Given the description of an element on the screen output the (x, y) to click on. 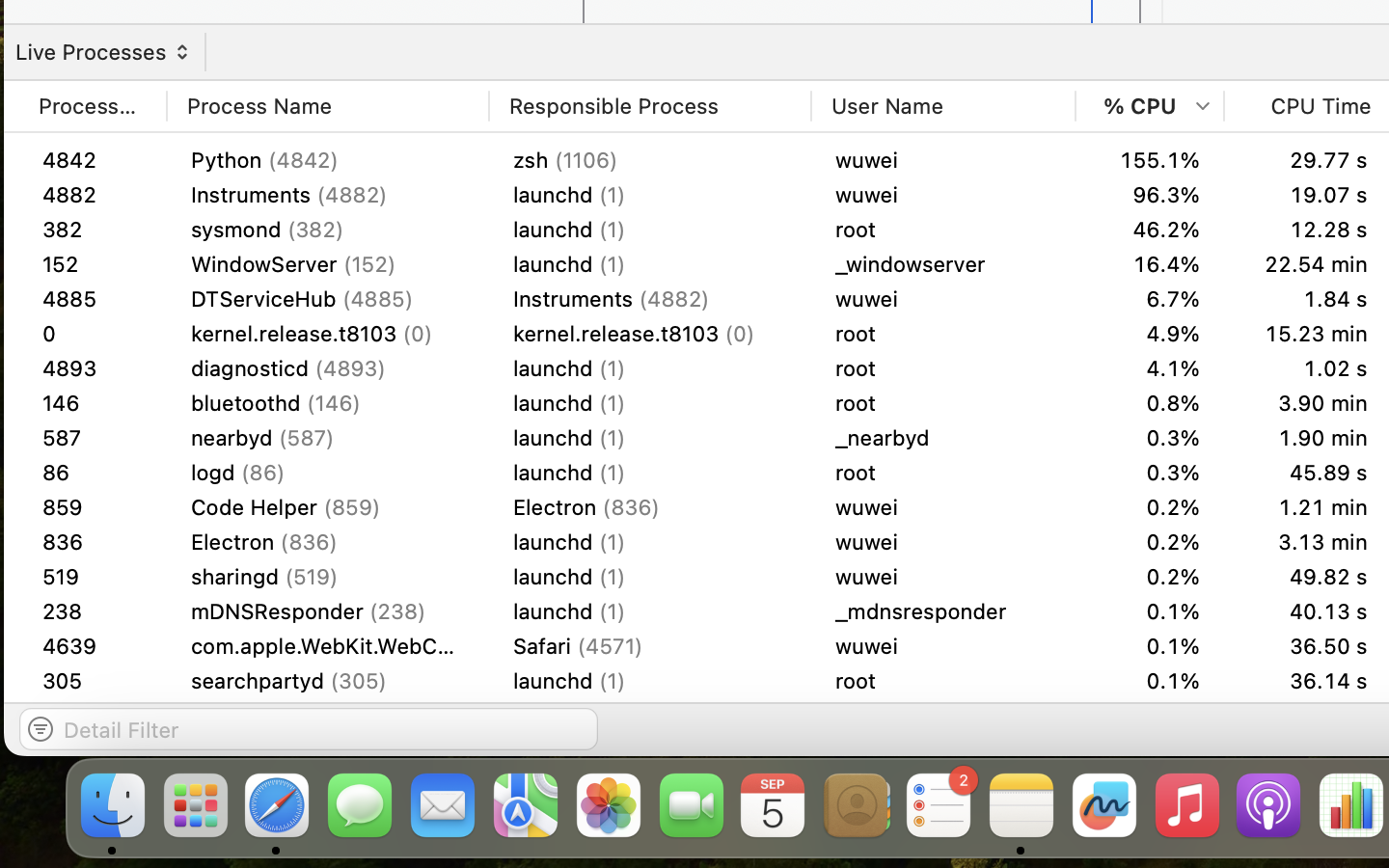
7.03 s Element type: AXStaticText (1307, 229)
_windowserver Element type: AXStaticText (943, 263)
5.5% Element type: AXStaticText (1149, 367)
4639 Element type: AXStaticText (92, 715)
root Element type: AXStaticText (943, 333)
